Given the description of an element on the screen output the (x, y) to click on. 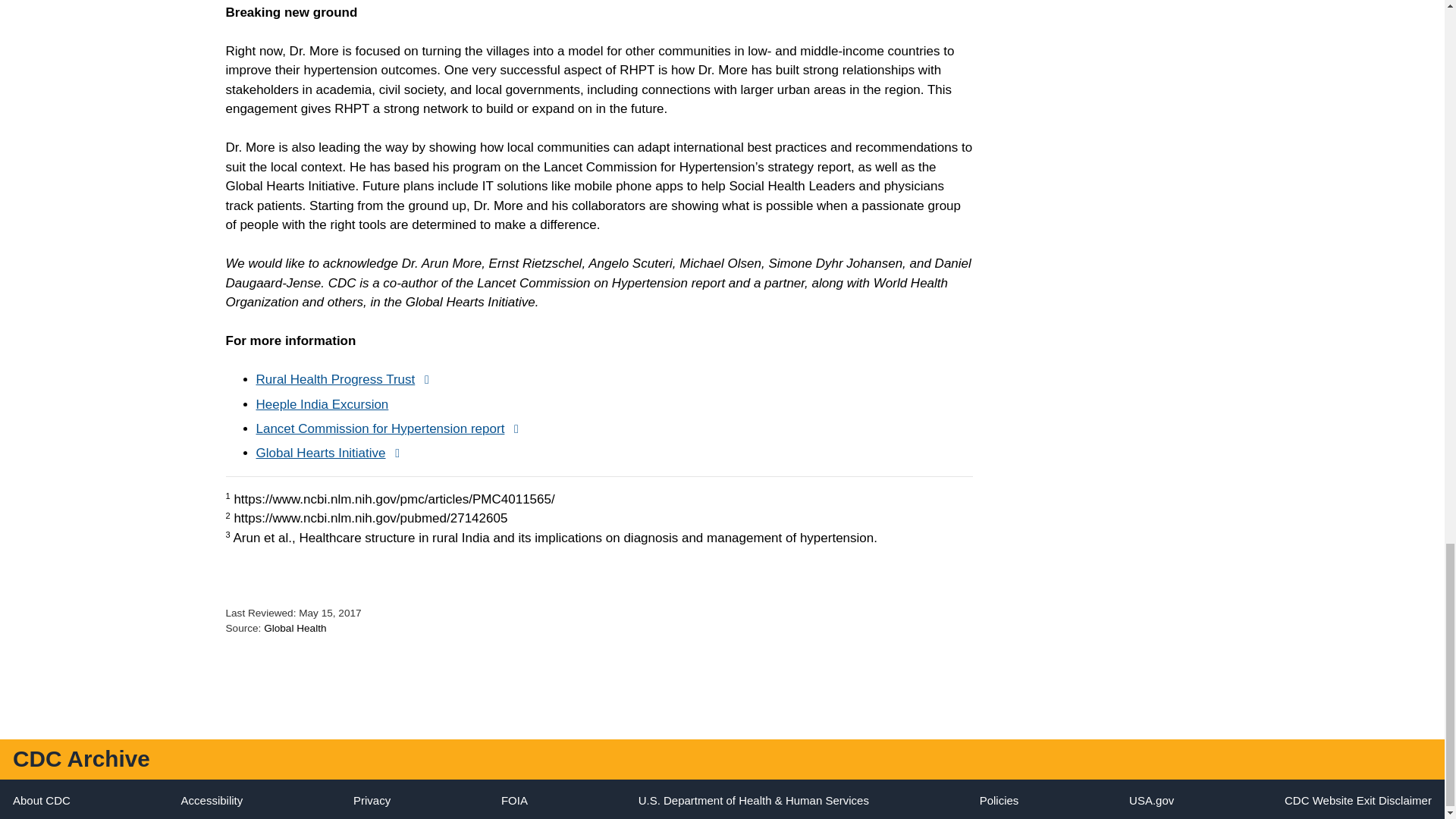
CDC Accessibility (211, 799)
CDC Archive Home (81, 758)
CDC Twenty Four Seven (41, 799)
Rural Health Progress Trust (347, 379)
Global Hearts Initiative (332, 452)
CDC Policies and Regulations (999, 799)
CDC Digital Media Channel Privacy Policy Notice (371, 799)
Heeple India Excursion (322, 404)
Global Health (294, 627)
Lancet Commission for Hypertension report (392, 428)
